Given the description of an element on the screen output the (x, y) to click on. 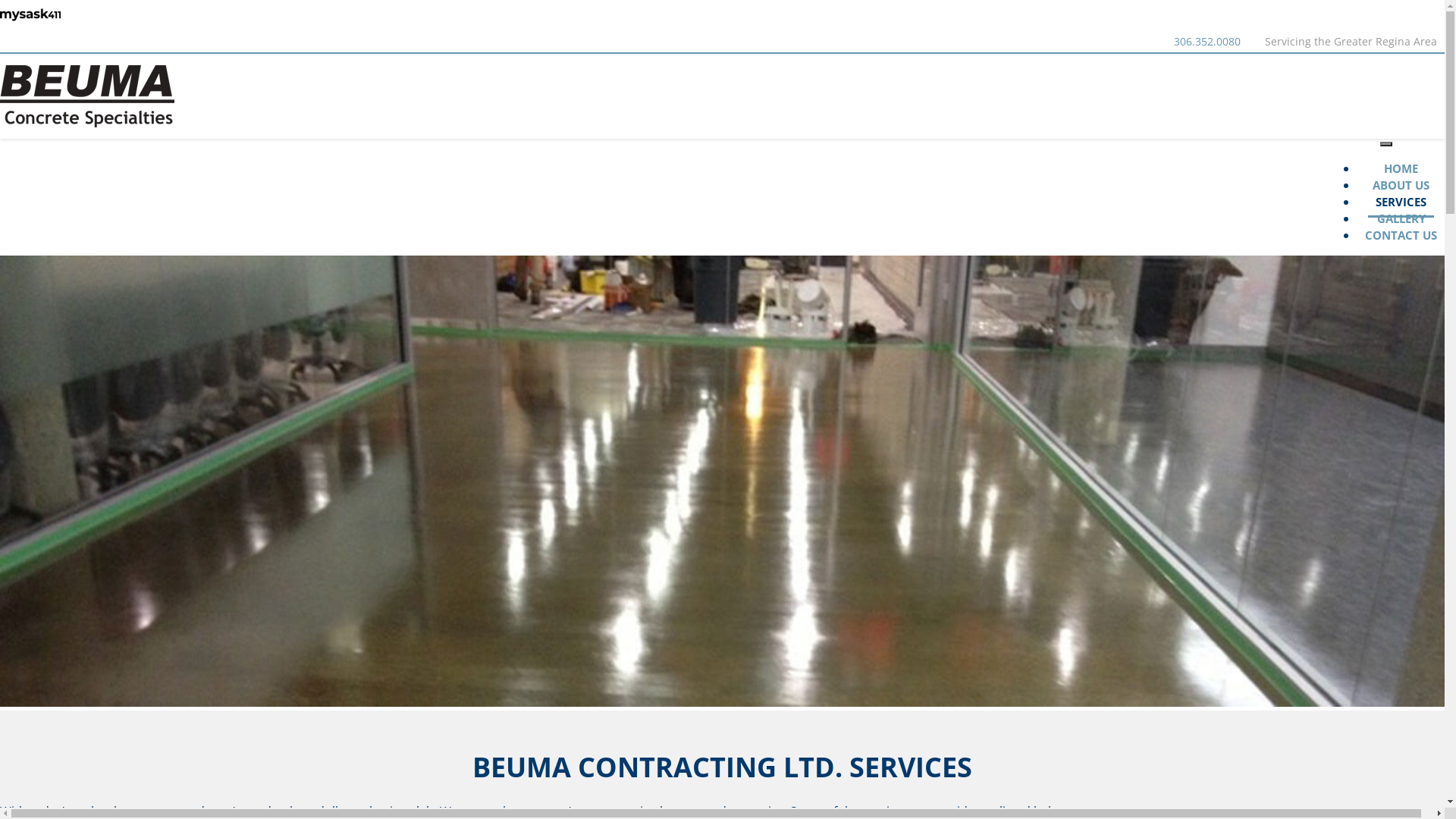
SERVICES Element type: text (1401, 197)
Mysask411 Logo Element type: hover (30, 14)
HOME Element type: text (1400, 169)
CONTACT US Element type: text (1400, 236)
Polished Concrete Floor Element type: hover (722, 480)
ABOUT US Element type: text (1401, 186)
306.352.0080 Element type: text (1206, 41)
GALLERY Element type: text (1401, 219)
